Given the description of an element on the screen output the (x, y) to click on. 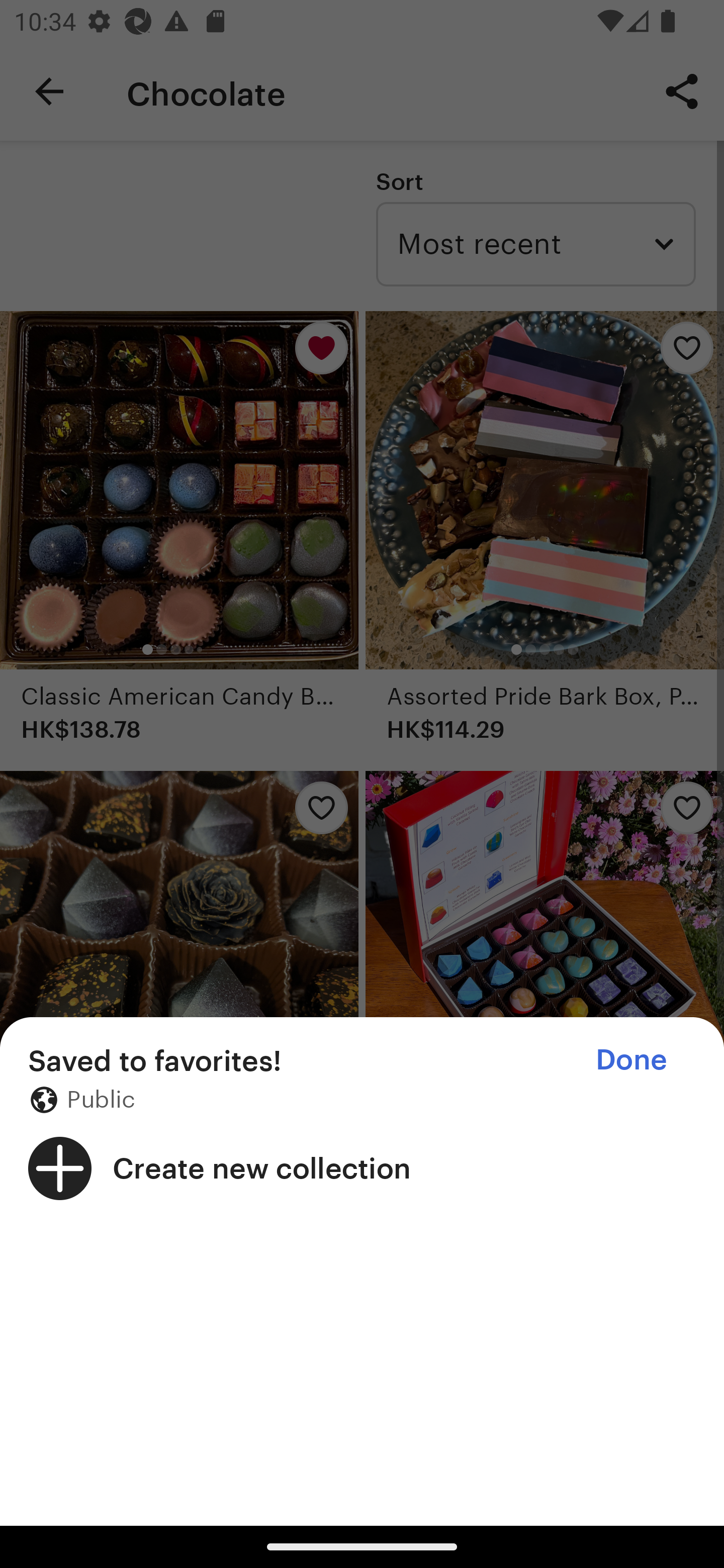
Done (630, 1059)
Create new collection (361, 1167)
